Given the description of an element on the screen output the (x, y) to click on. 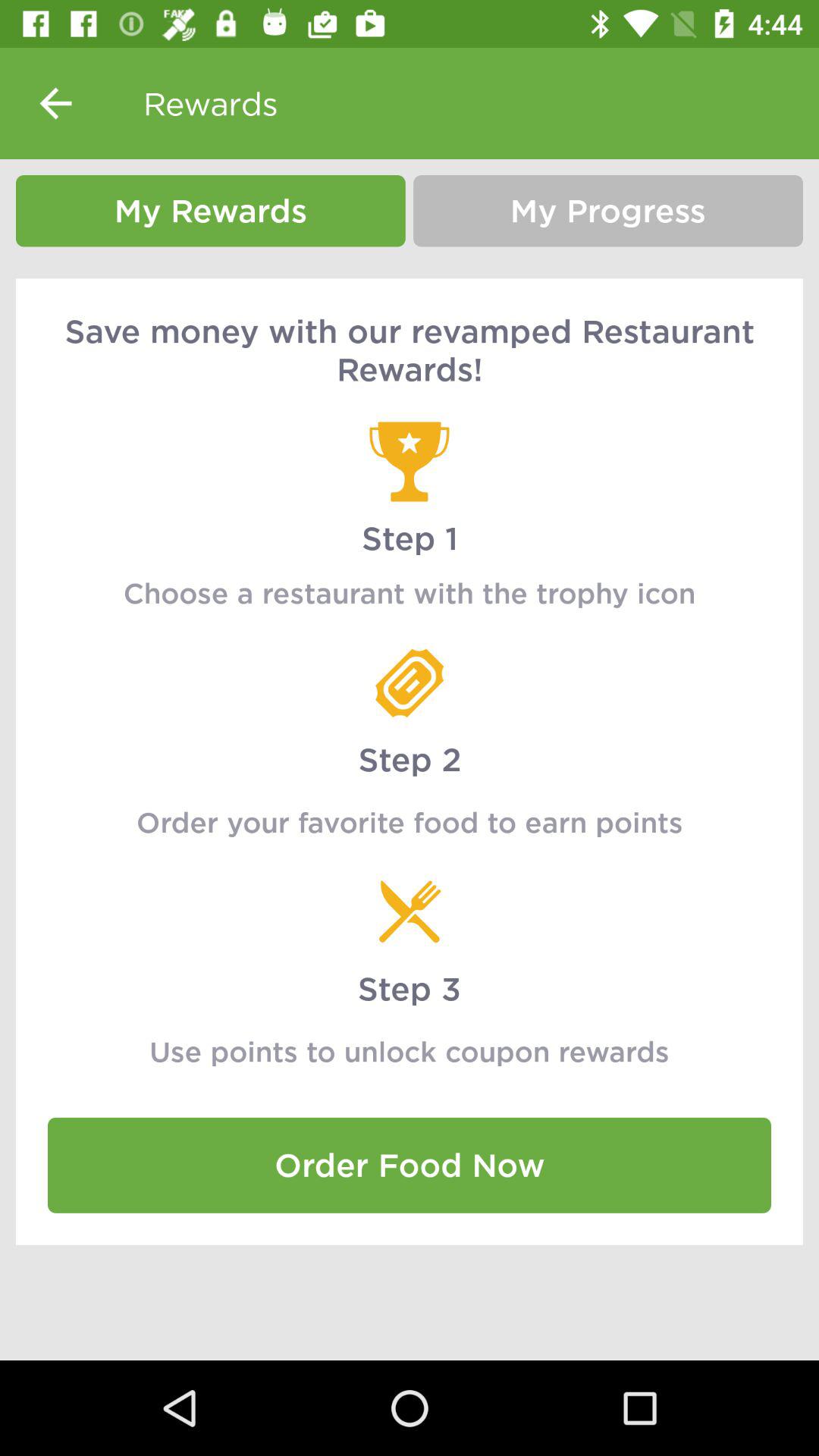
press the item above my rewards (55, 103)
